Given the description of an element on the screen output the (x, y) to click on. 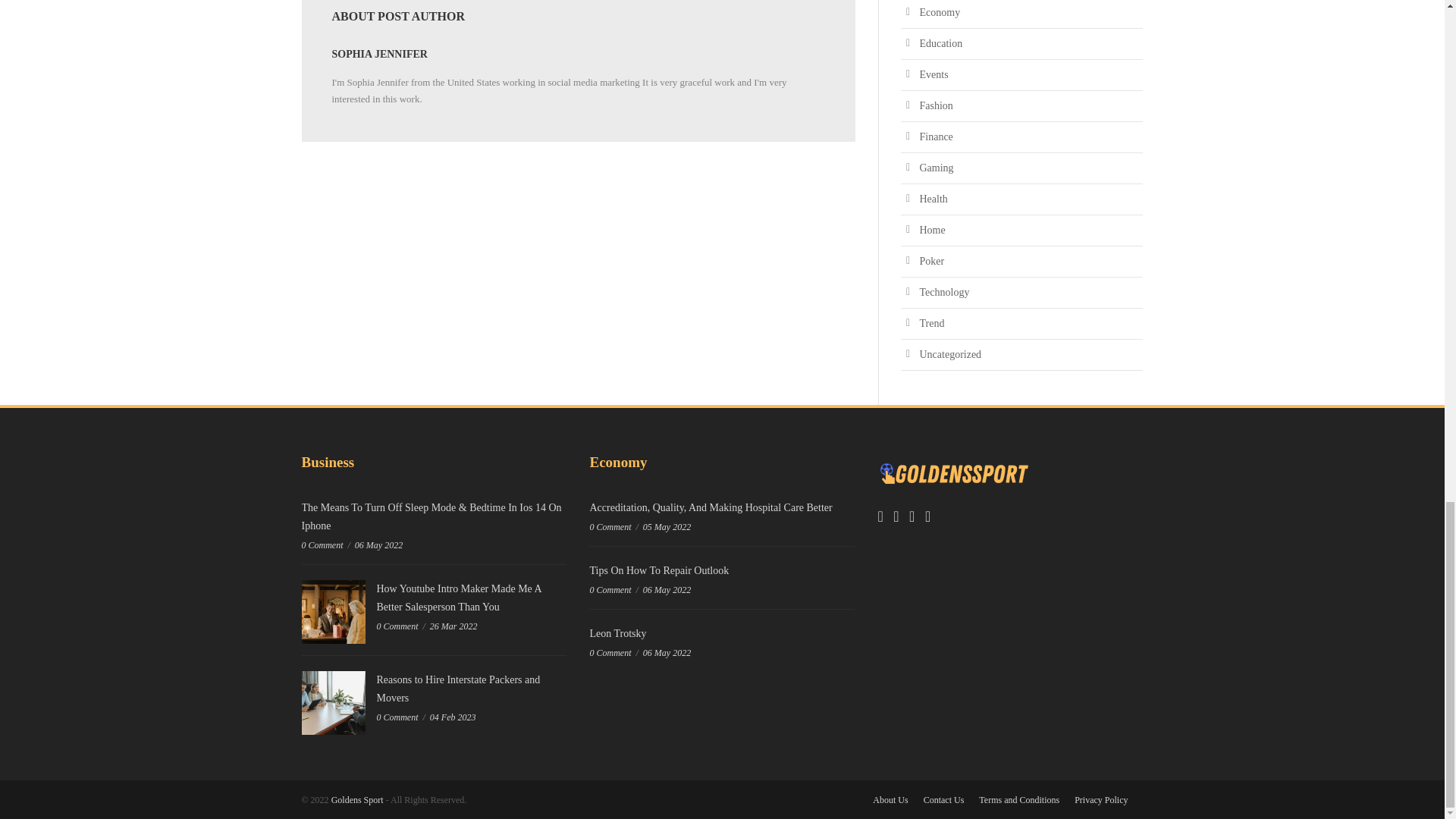
Posts by Sophia Jennifer (379, 53)
SOPHIA JENNIFER (379, 53)
